Given the description of an element on the screen output the (x, y) to click on. 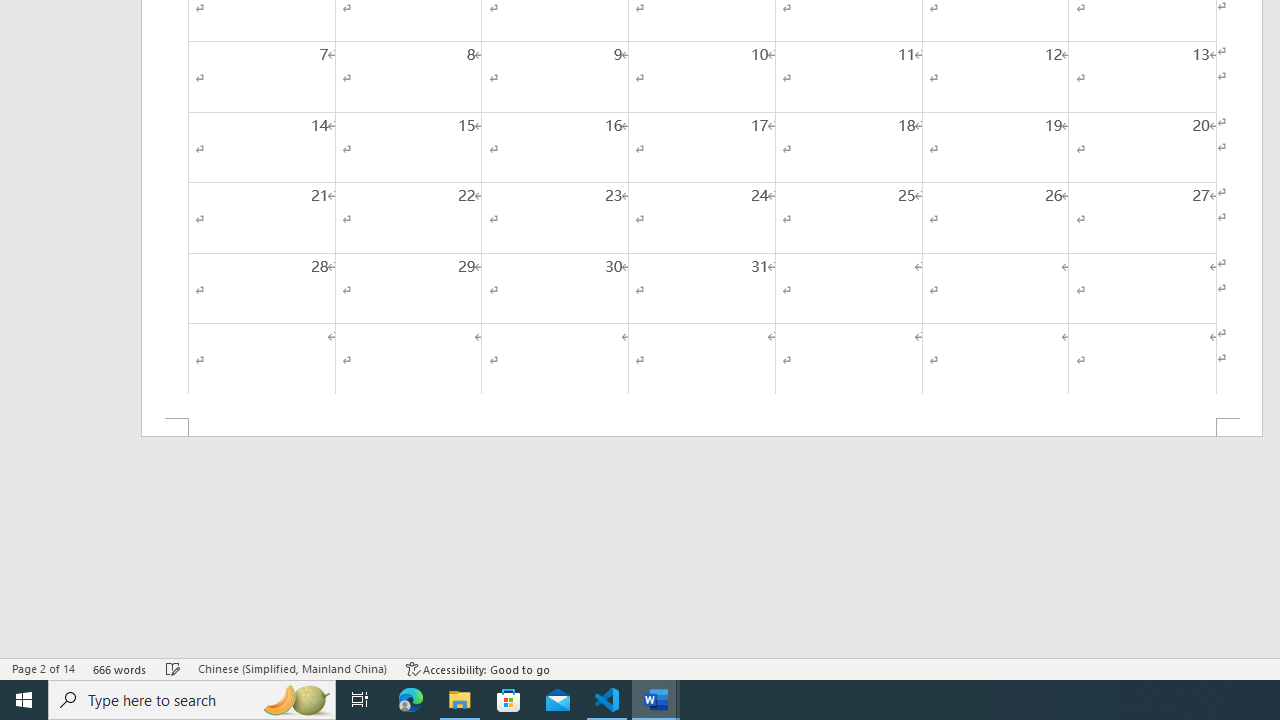
Page Number Page 2 of 14 (43, 668)
